Given the description of an element on the screen output the (x, y) to click on. 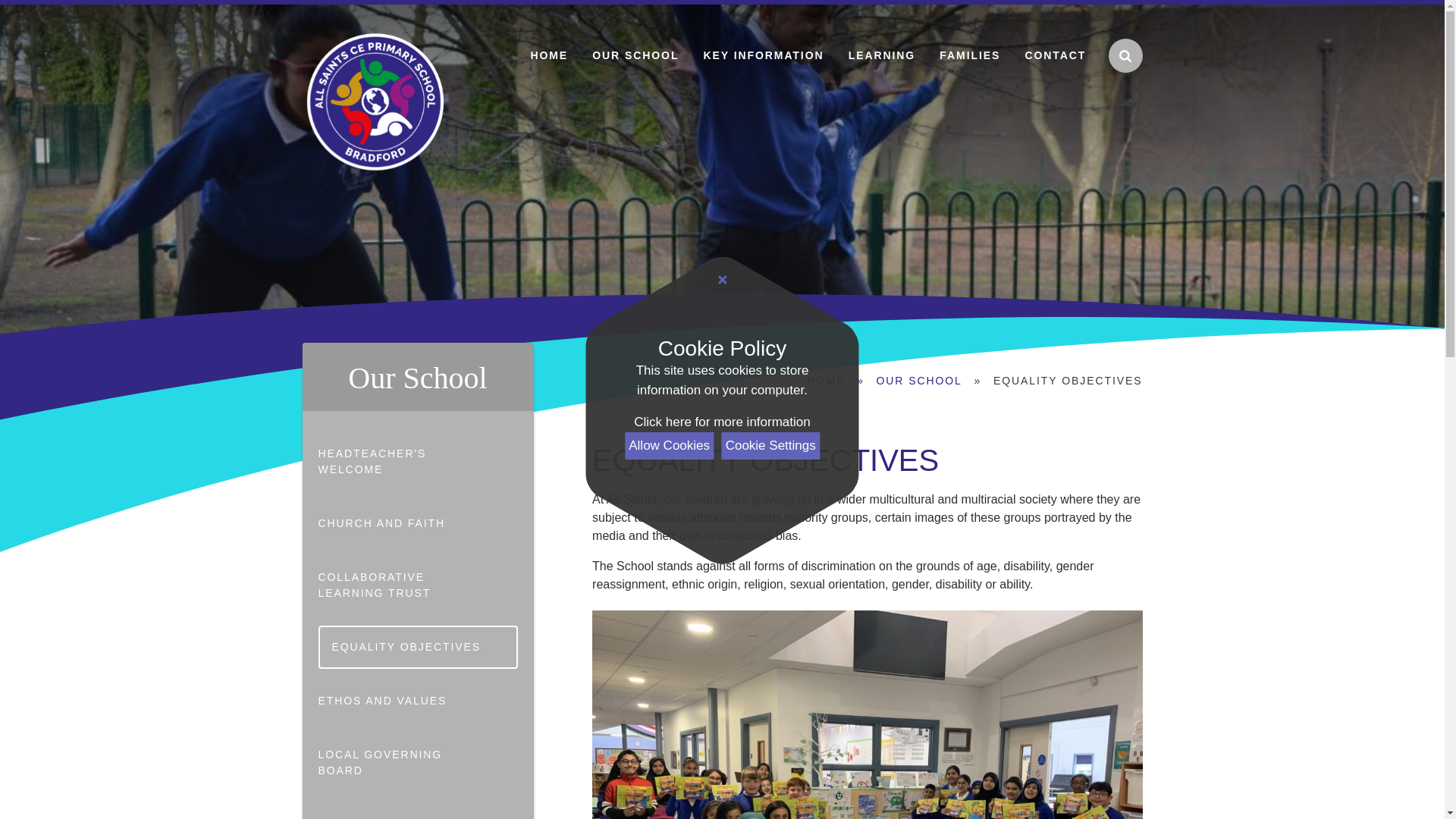
KEY INFORMATION (763, 55)
OUR SCHOOL (635, 55)
Allow Cookies (668, 445)
HOME (548, 55)
See cookie policy (721, 422)
Cookie Settings (769, 445)
LEARNING (881, 55)
